Given the description of an element on the screen output the (x, y) to click on. 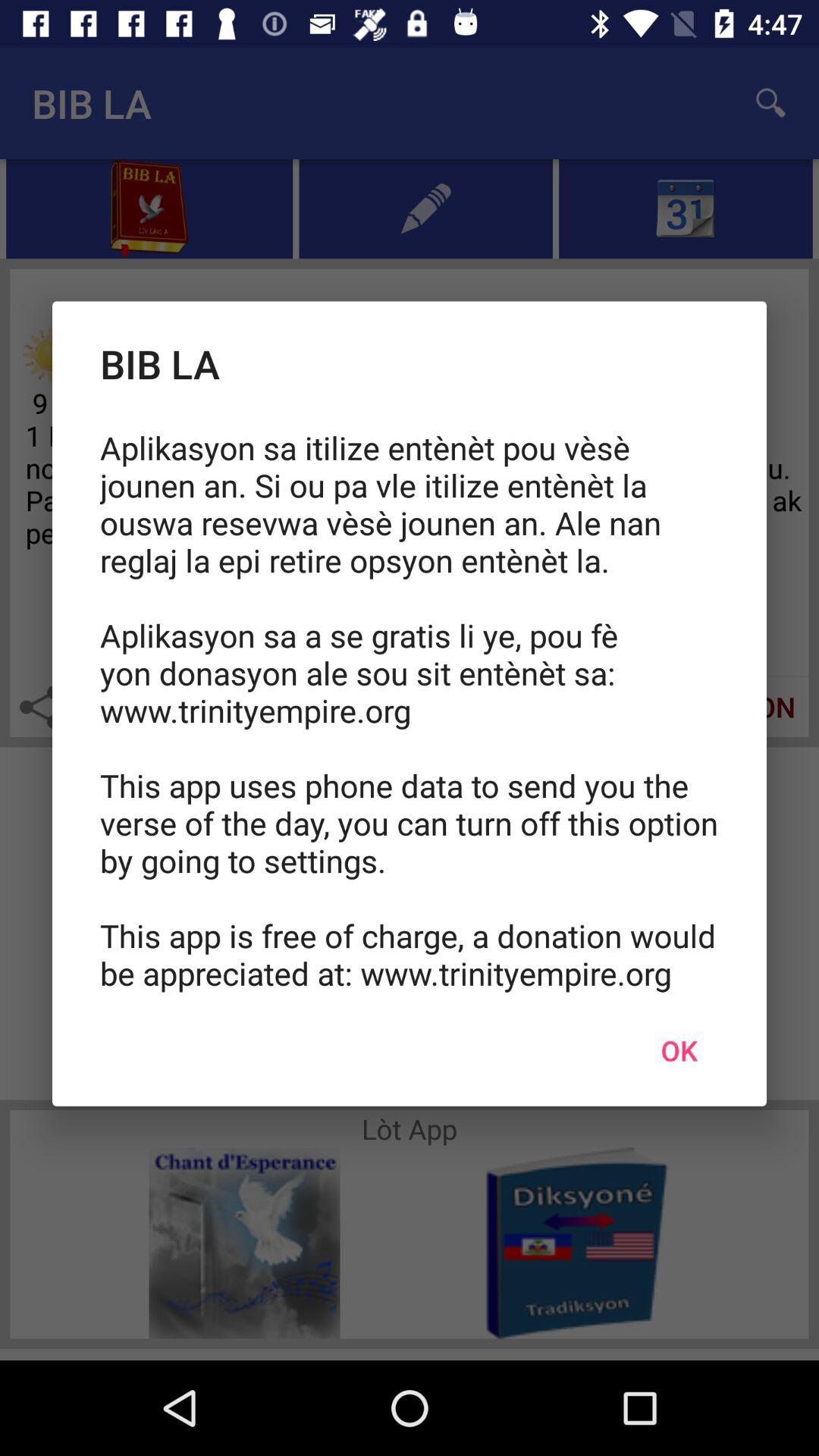
turn on the ok icon (678, 1050)
